Given the description of an element on the screen output the (x, y) to click on. 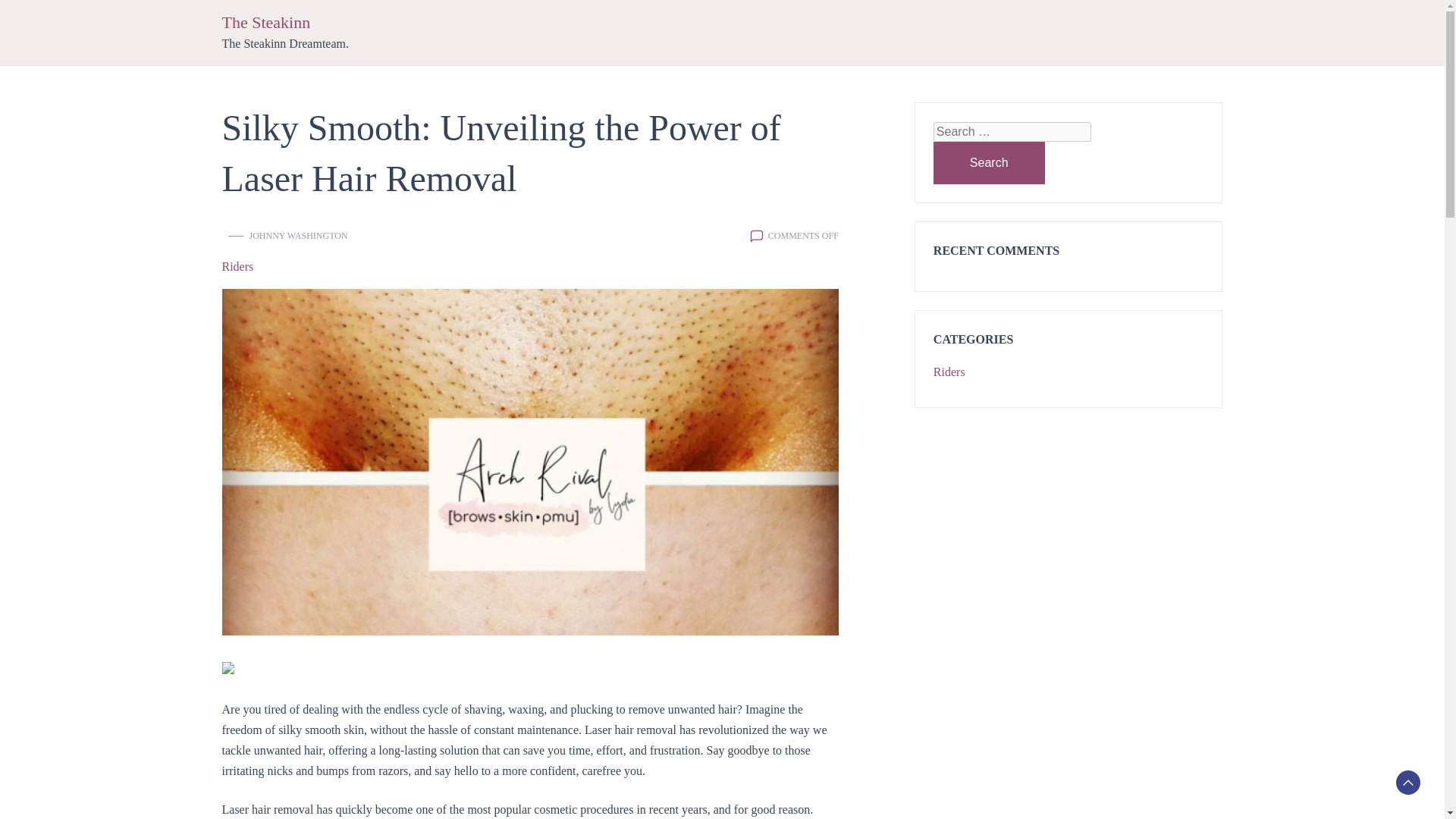
JOHNNY WASHINGTON (297, 235)
Search (989, 162)
Search (989, 162)
Riders (949, 371)
Search (989, 162)
The Steakinn (265, 22)
Riders (237, 266)
